Given the description of an element on the screen output the (x, y) to click on. 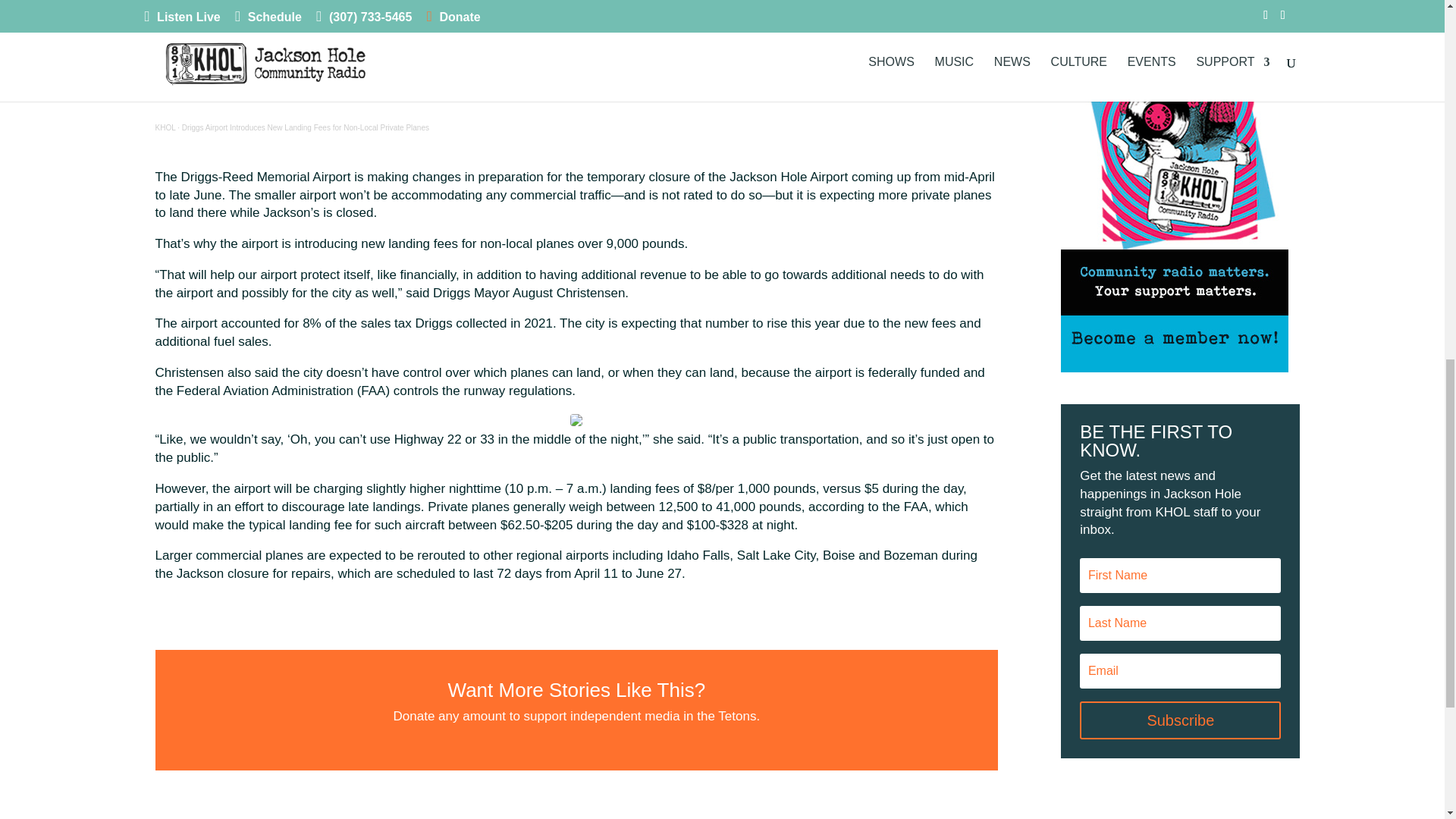
KHOL (164, 127)
Subscribe (1180, 720)
KHOL (164, 127)
